Given the description of an element on the screen output the (x, y) to click on. 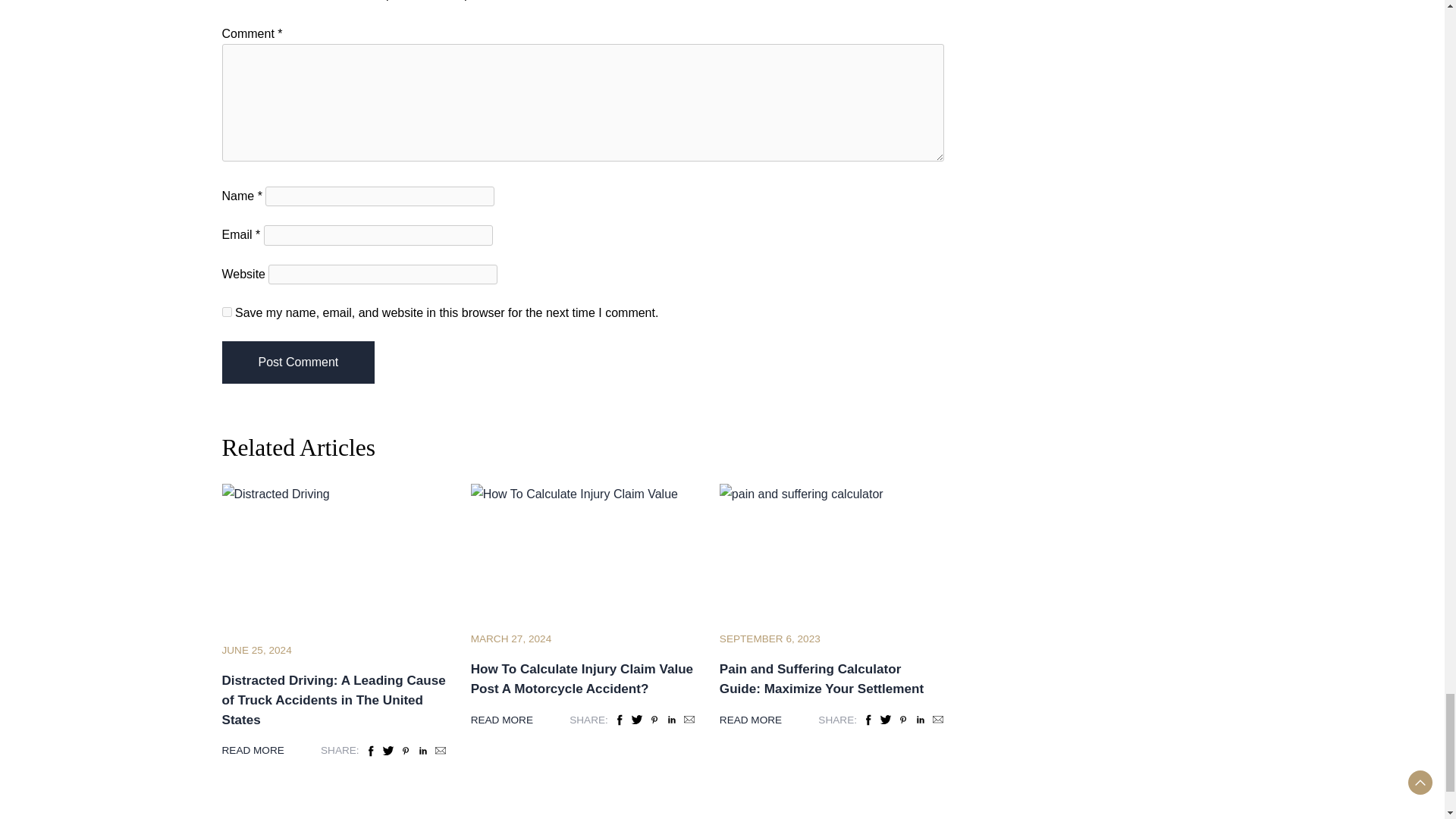
yes (226, 311)
Post Comment (297, 362)
